Given the description of an element on the screen output the (x, y) to click on. 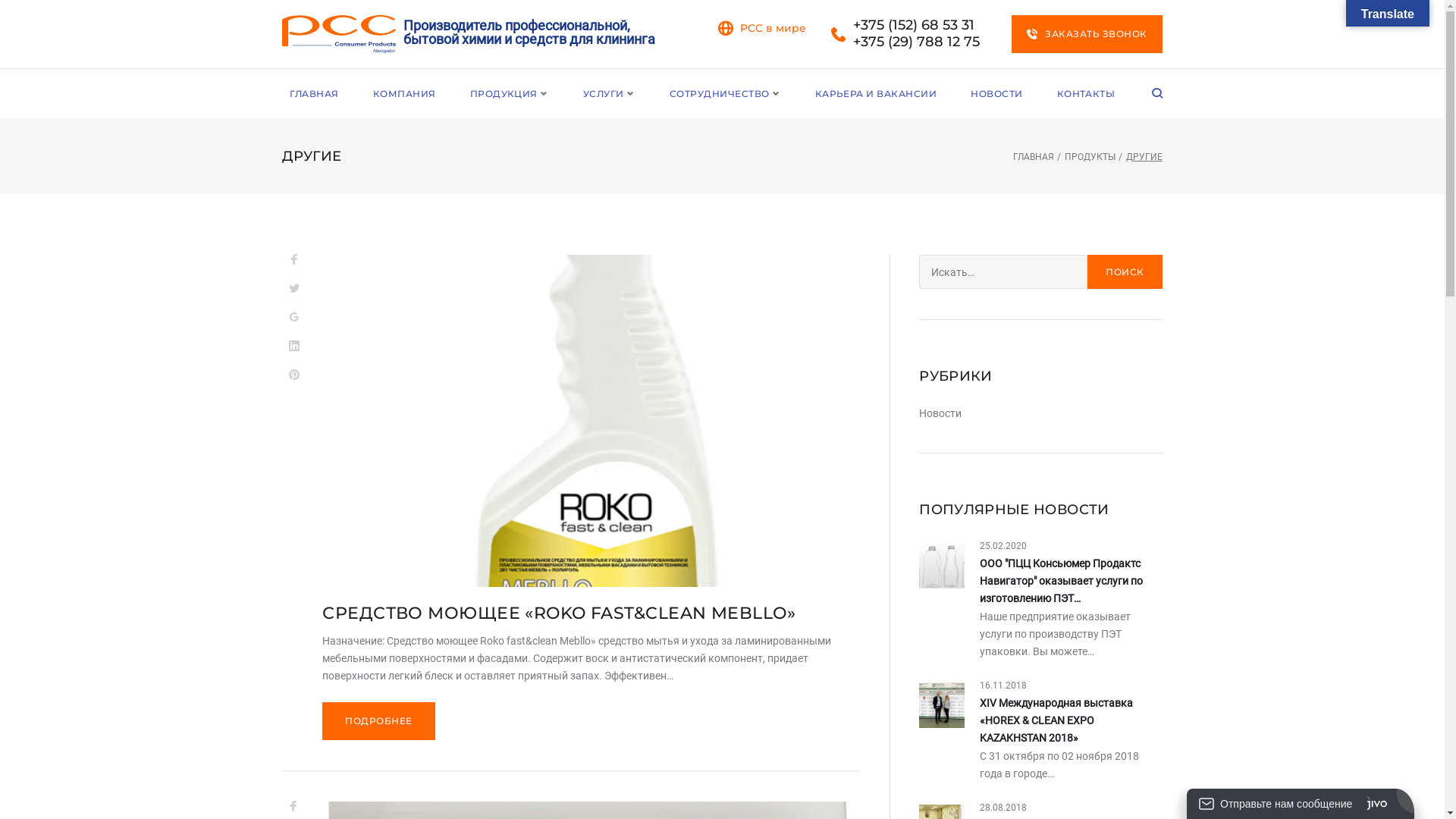
25.02.2020 Element type: text (1002, 545)
Skip to content Element type: text (0, 0)
+375 (29) 788 12 75 Element type: text (916, 42)
Facebook Element type: text (293, 260)
Twitter Element type: text (293, 288)
LinkedIn Element type: text (293, 346)
+375 (152) 68 53 31 Element type: text (913, 25)
28.08.2018 Element type: text (1002, 807)
Pinterest Element type: text (293, 375)
Facebook Element type: text (293, 806)
Google+ Element type: text (293, 317)
16.11.2018 Element type: text (1002, 685)
